Given the description of an element on the screen output the (x, y) to click on. 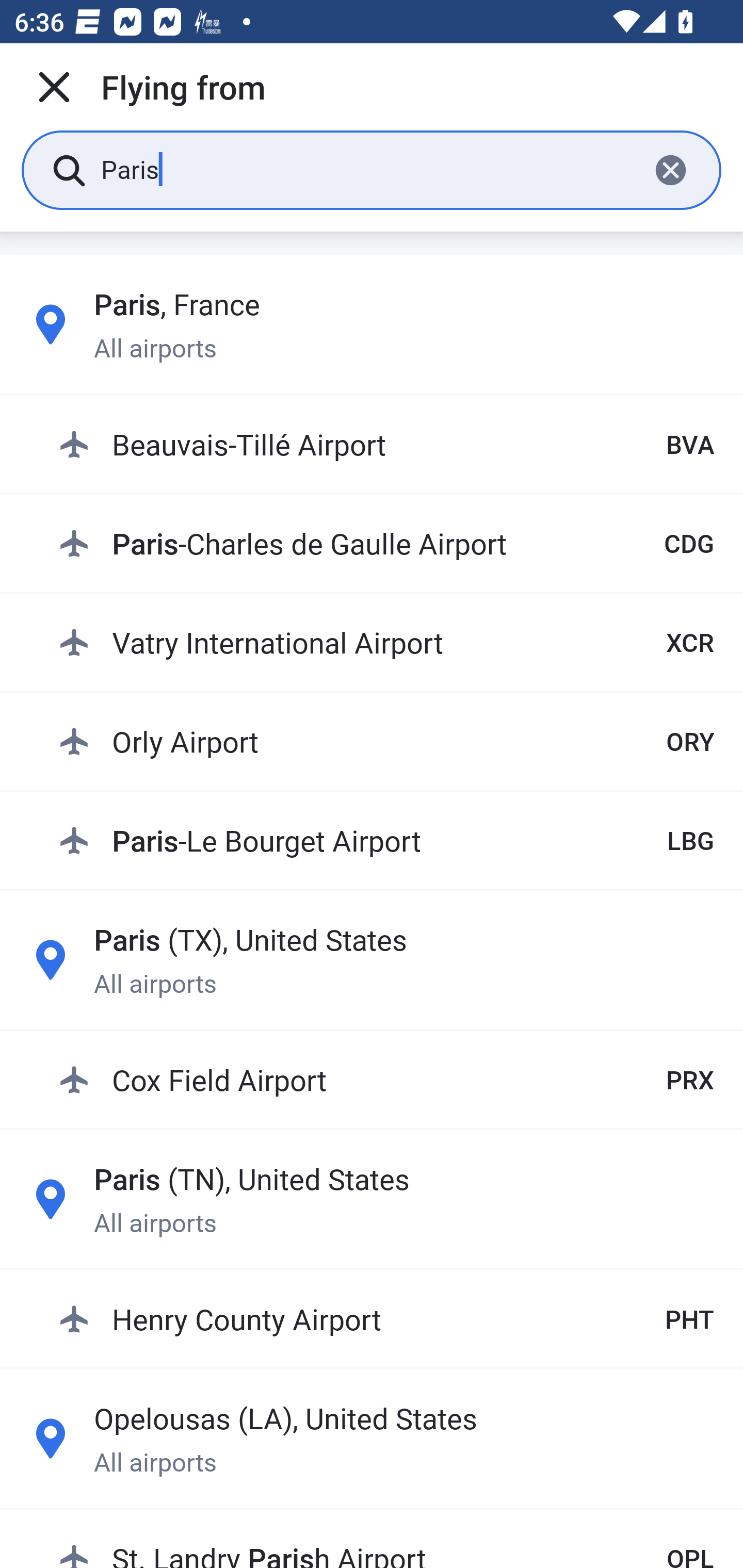
Paris (367, 169)
Paris, France All airports (371, 324)
Beauvais-Tillé Airport BVA (385, 444)
Paris-Charles de Gaulle Airport CDG (385, 543)
Vatry International Airport XCR (385, 641)
Orly Airport ORY (385, 740)
Paris-Le Bourget Airport LBG (385, 839)
Paris (TX), United States All airports (371, 960)
Cox Field Airport PRX (385, 1079)
Paris (TN), United States All airports (371, 1198)
Henry County Airport PHT (385, 1318)
Opelousas (LA), United States All airports (371, 1438)
St. Landry Parish Airport OPL (385, 1541)
